Given the description of an element on the screen output the (x, y) to click on. 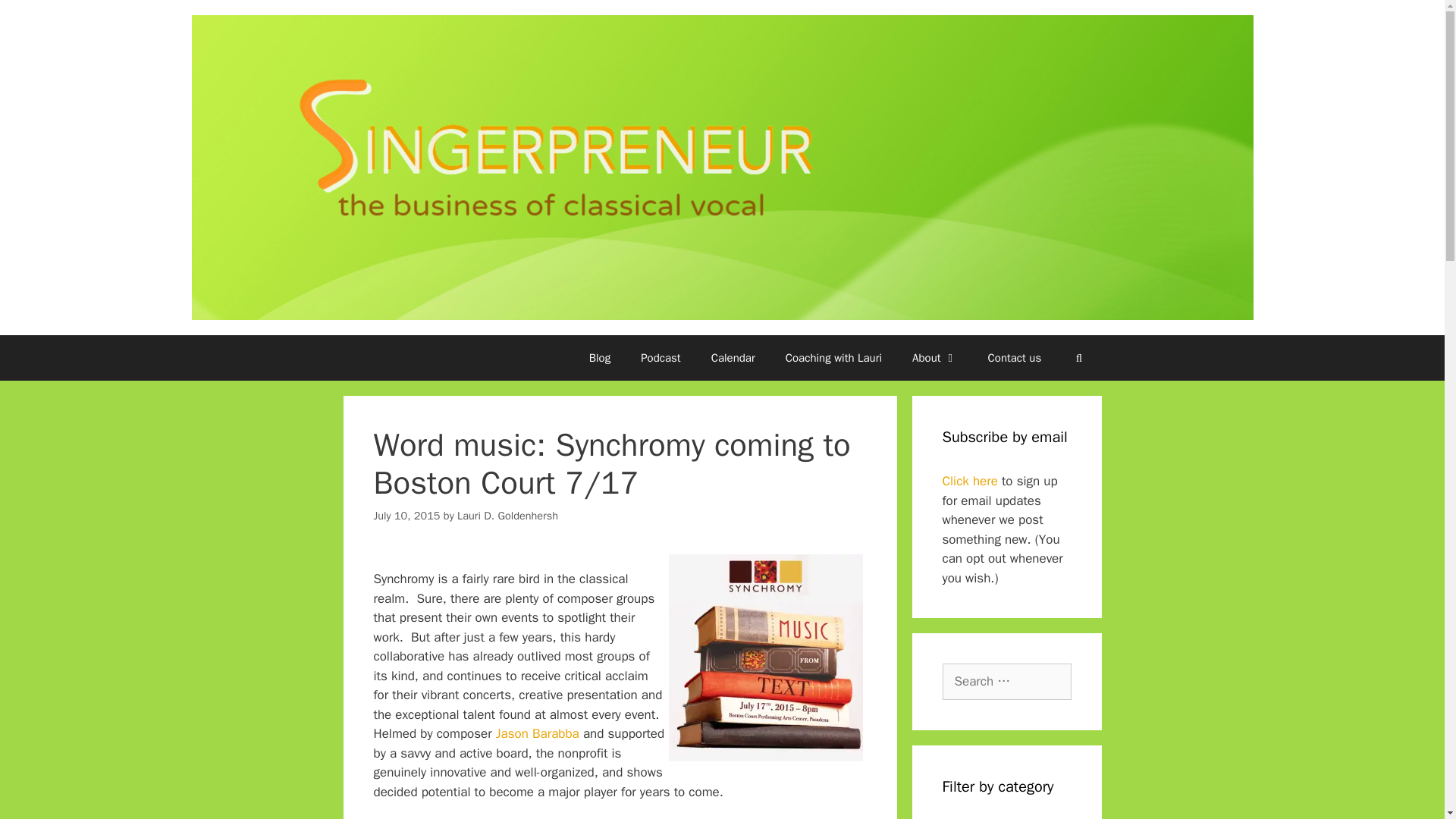
Coaching with Lauri (833, 357)
Blog (599, 357)
Search for: (1006, 681)
View all posts by Lauri D. Goldenhersh (507, 515)
About (934, 357)
Calendar (732, 357)
Contact us (1014, 357)
Podcast (660, 357)
Lauri D. Goldenhersh (507, 515)
Jason Barabba (539, 733)
